Given the description of an element on the screen output the (x, y) to click on. 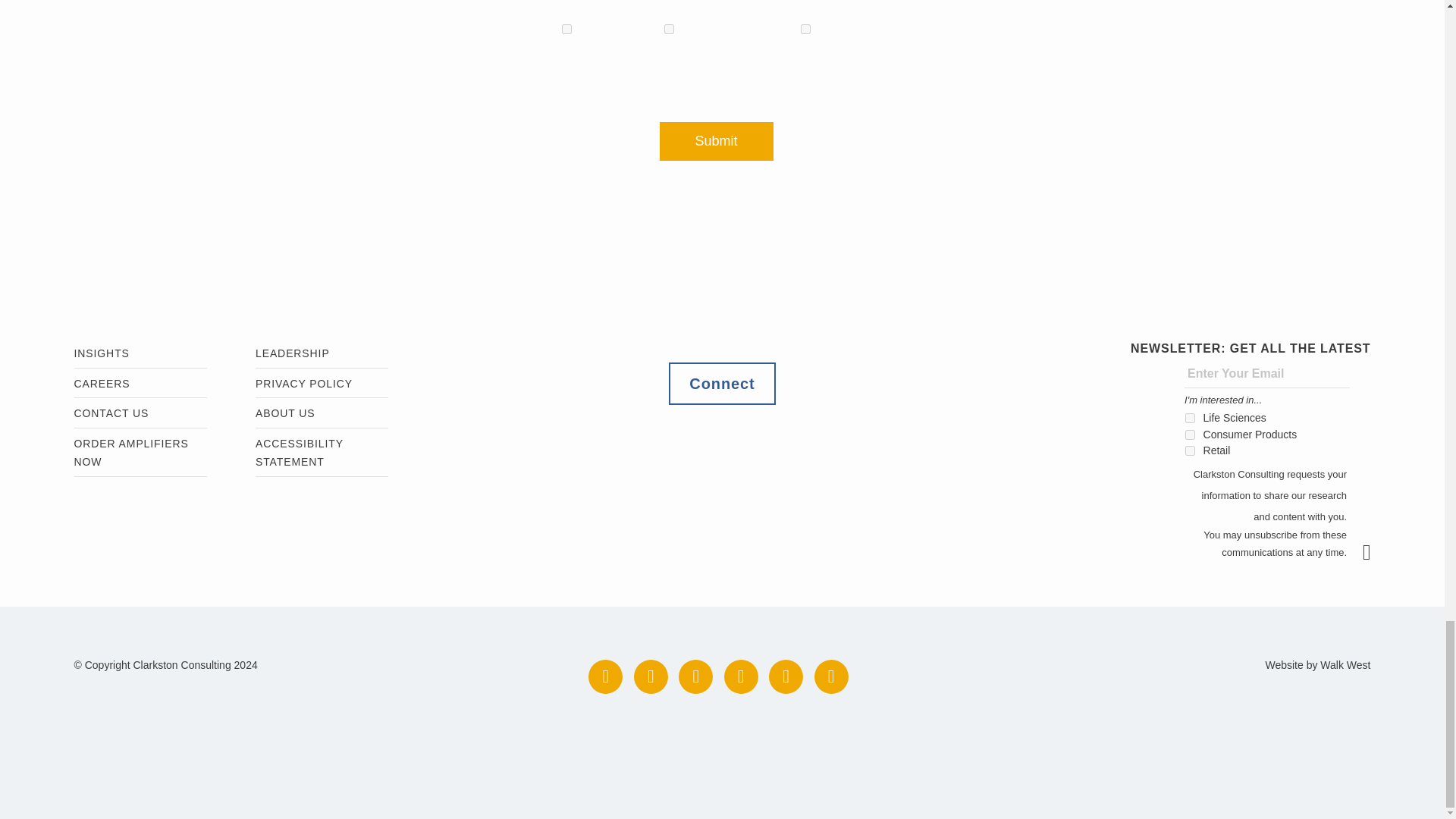
Consumer Products and Retail (668, 29)
Retail Industry (805, 29)
Retail Industry (1190, 450)
Submit (716, 141)
Consumer Products and Retail (1190, 434)
Life Sciences (1190, 418)
Submit (1374, 551)
Life Sciences (567, 29)
